Given the description of an element on the screen output the (x, y) to click on. 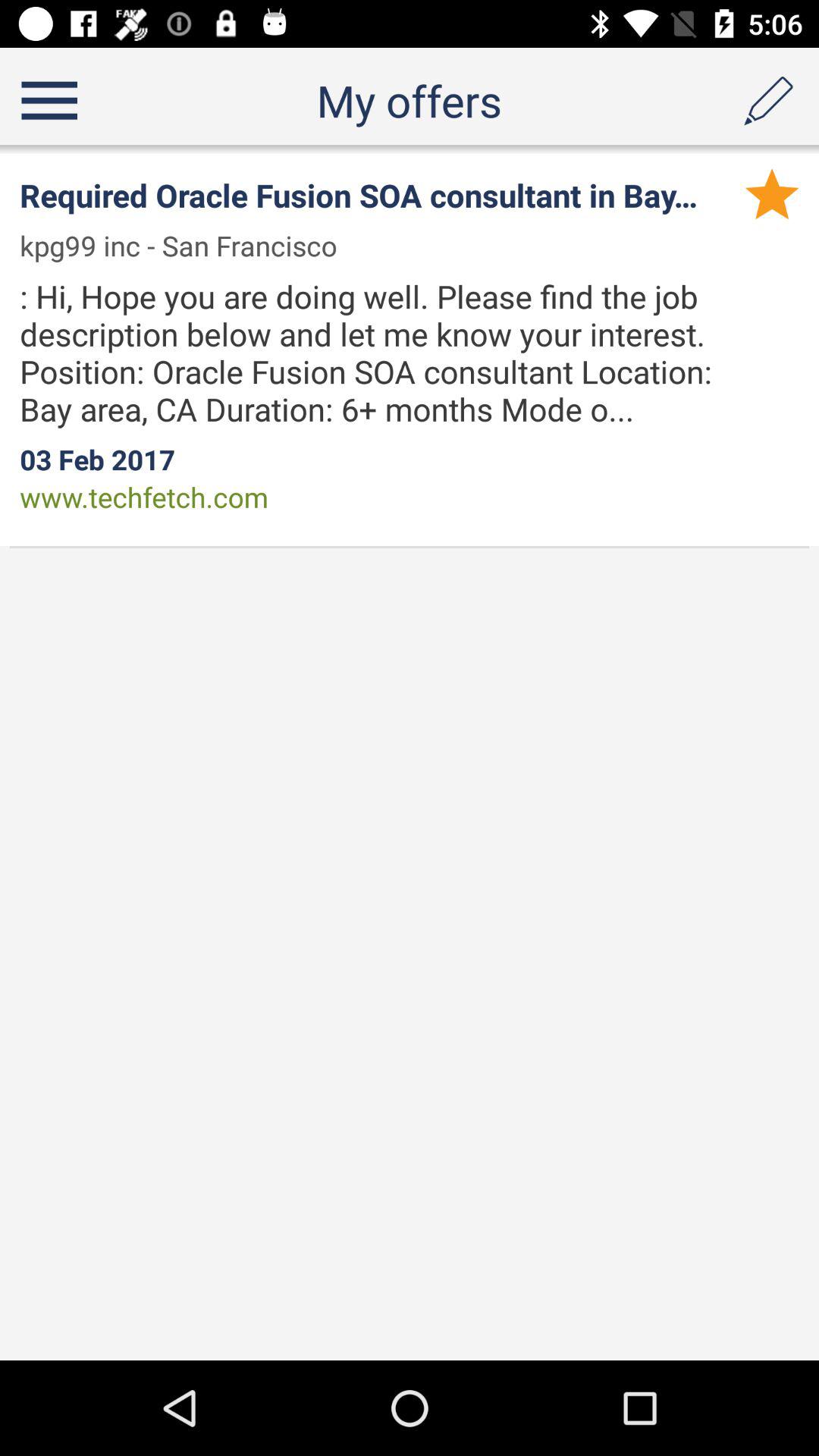
press the 03 feb 2017 app (97, 459)
